Given the description of an element on the screen output the (x, y) to click on. 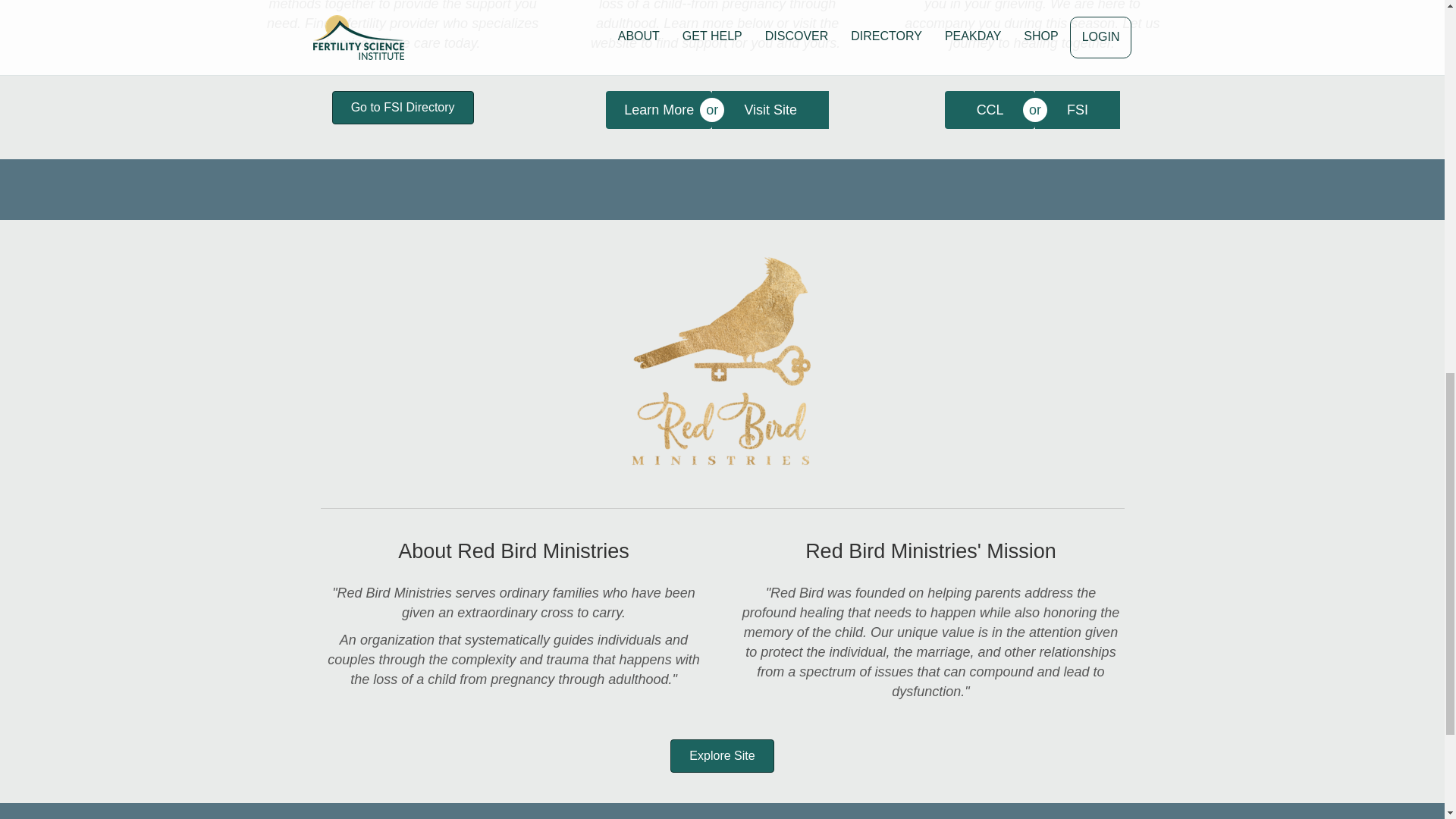
Visit Site (769, 109)
Learn More (658, 109)
FSI (1077, 109)
CCL (989, 109)
Go to FSI Directory (402, 107)
Explore Site (721, 756)
